Given the description of an element on the screen output the (x, y) to click on. 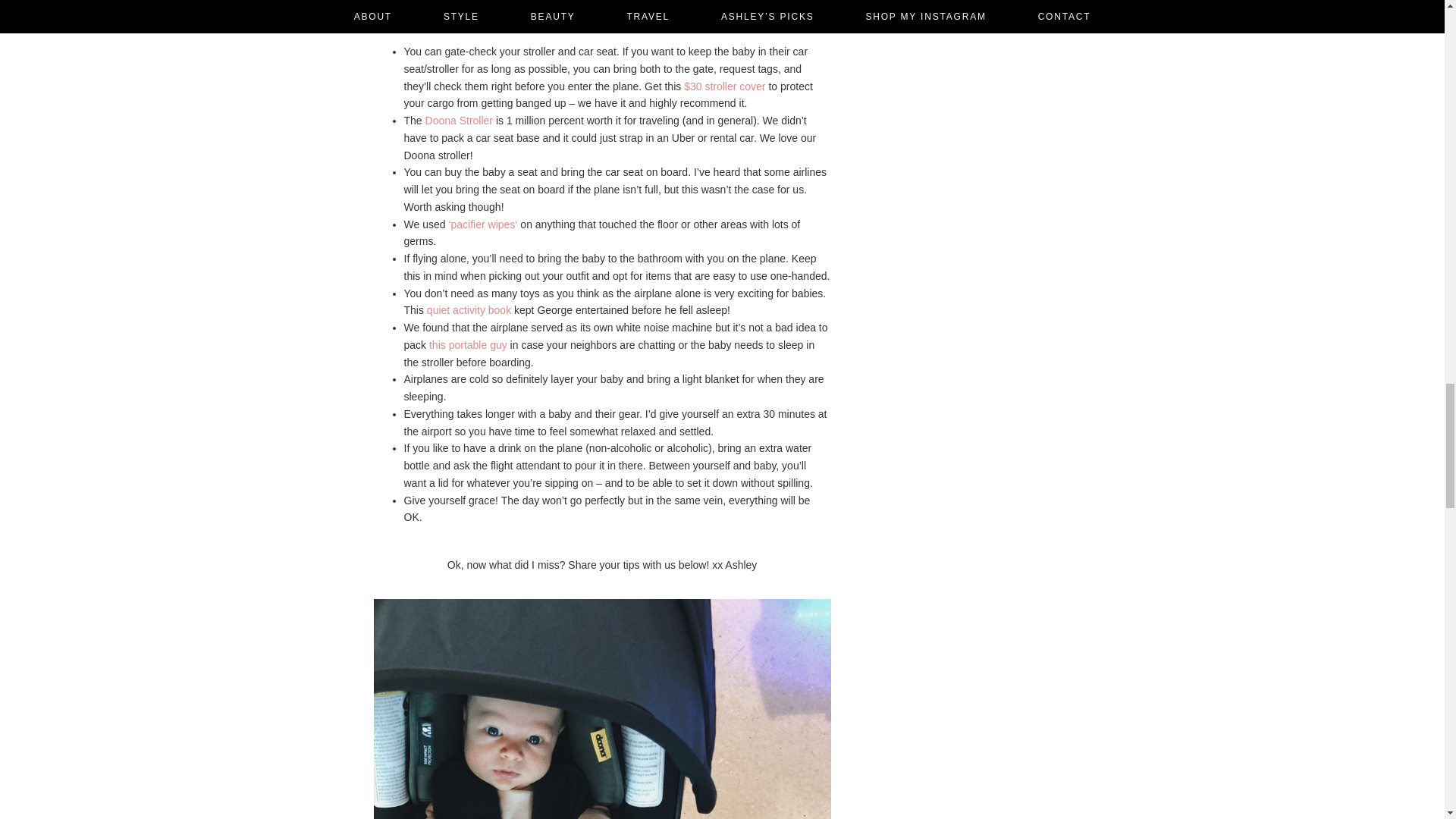
Doona Stroller (459, 120)
this portable guy (467, 345)
quiet activity book (468, 309)
